Given the description of an element on the screen output the (x, y) to click on. 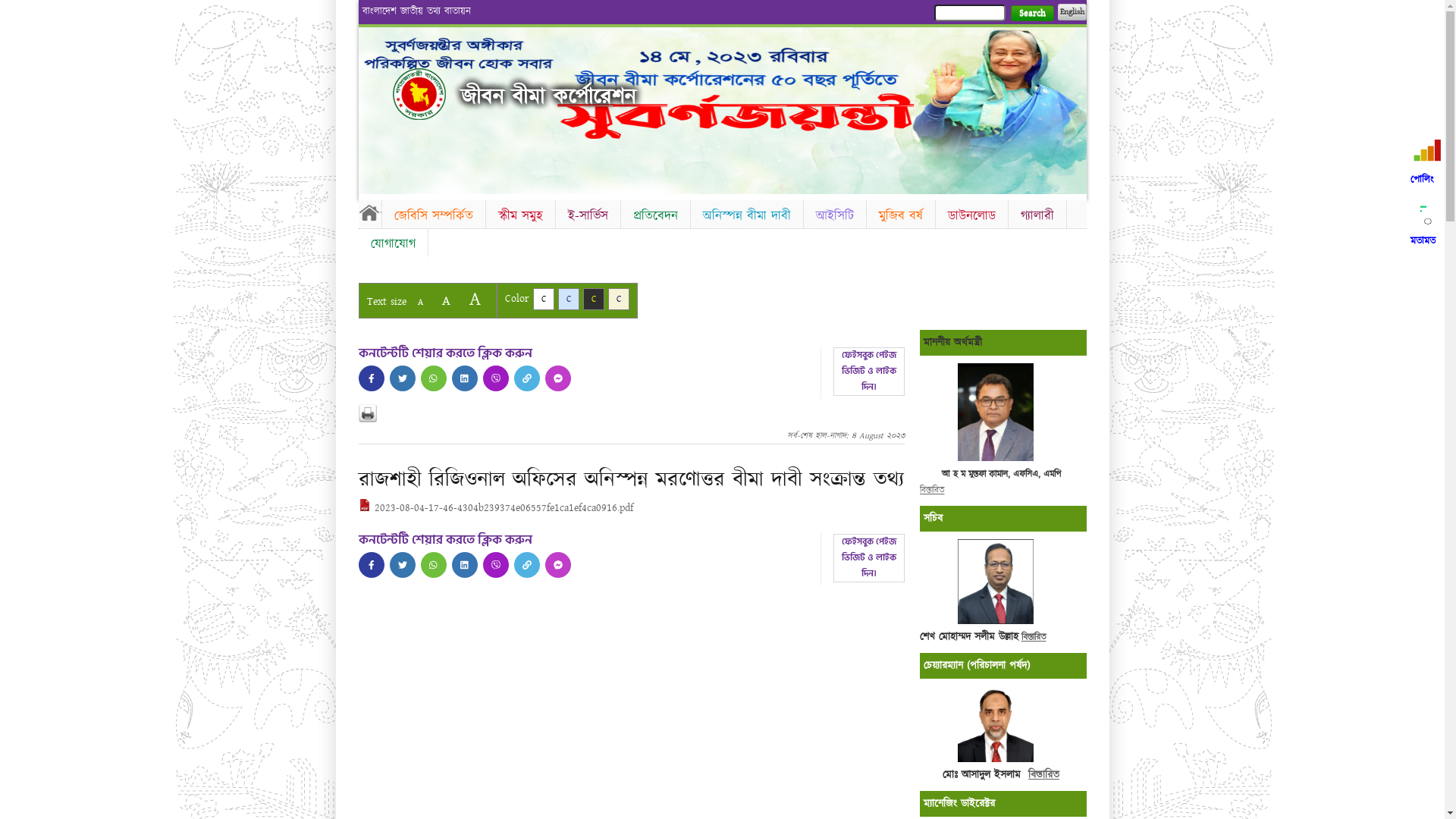
A Element type: text (419, 301)
Home Element type: hover (368, 211)
Search Element type: text (1031, 13)
C Element type: text (592, 299)
C Element type: text (618, 299)
2023-08-04-17-46-4304b239374e06557fe1ca1ef4ca0916.pdf Element type: text (494, 507)
C Element type: text (568, 299)
C Element type: text (542, 299)
A Element type: text (445, 300)
English Element type: text (1071, 11)
A Element type: text (474, 298)
Home Element type: hover (418, 93)
